Given the description of an element on the screen output the (x, y) to click on. 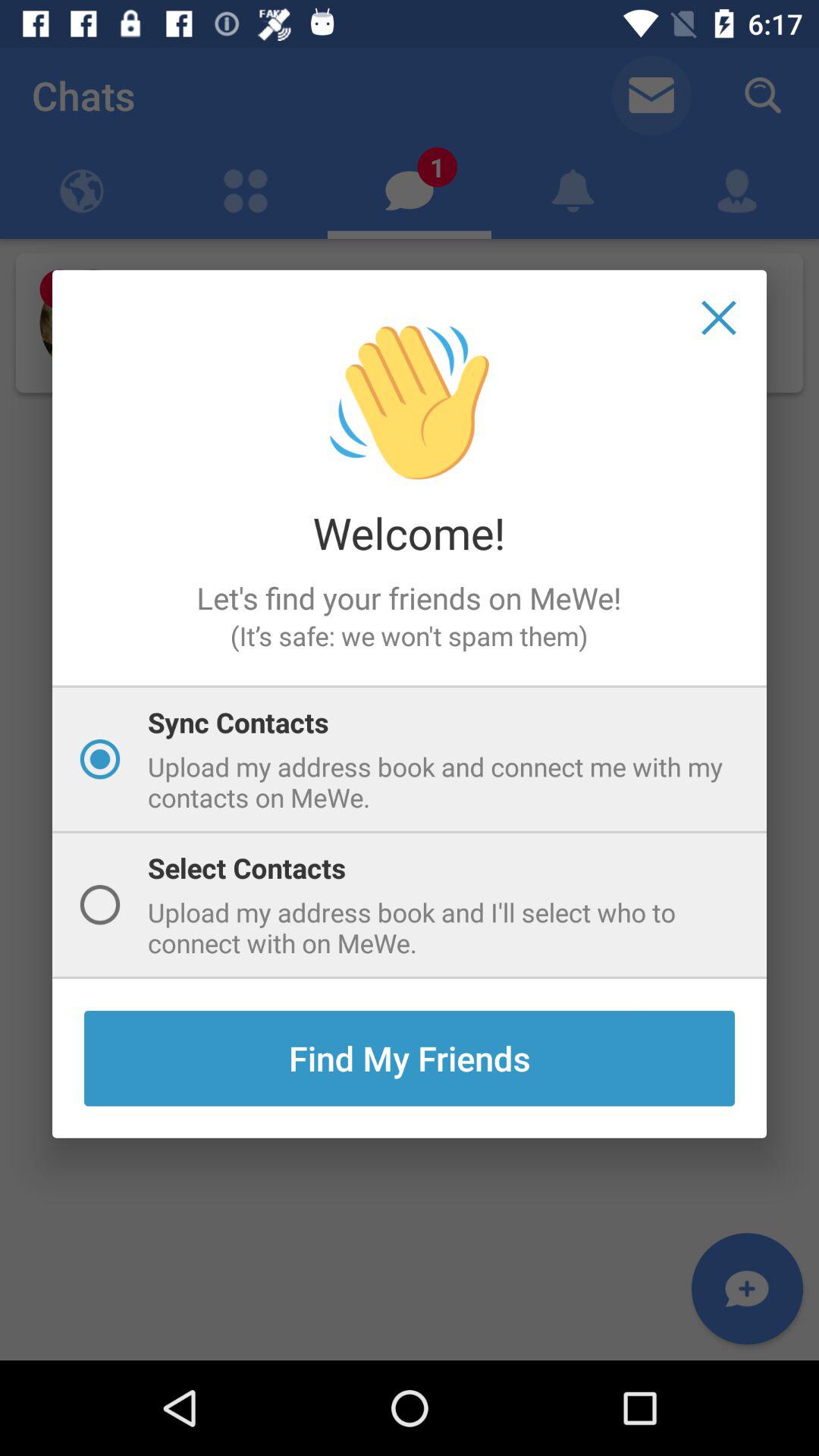
open icon at the top right corner (718, 317)
